Given the description of an element on the screen output the (x, y) to click on. 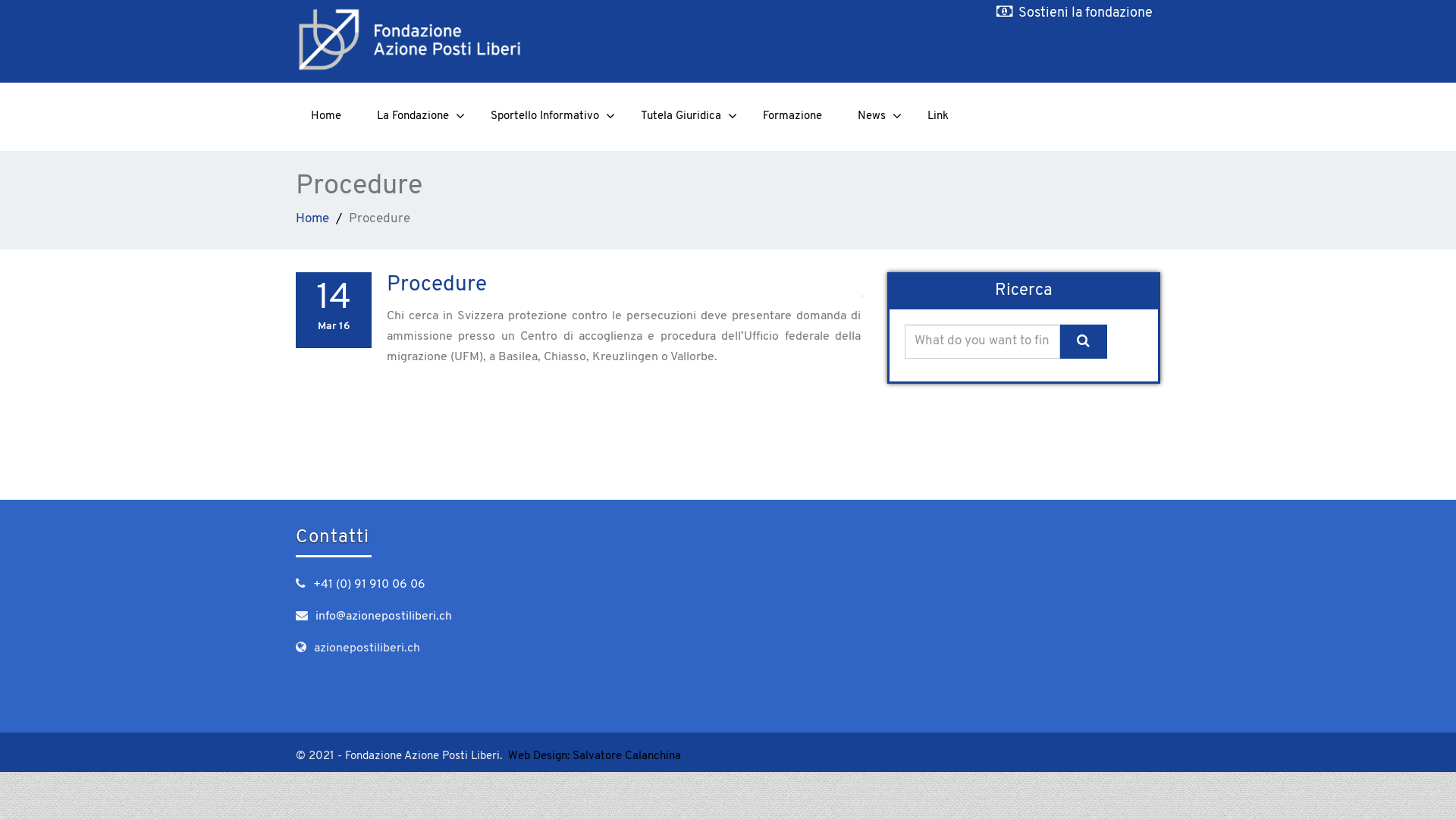
Home Element type: text (312, 218)
Web Design: Salvatore Calanchina Element type: text (594, 756)
Fondazione Azione Posti Liberi Element type: hover (505, 39)
Sportello Informativo  Element type: text (547, 116)
Formazione Element type: text (792, 116)
+41 (0) 91 910 06 06 Element type: text (369, 584)
Link Element type: text (937, 116)
Sostieni la fondazione Element type: text (1085, 13)
La Fondazione  Element type: text (415, 116)
Procedure Element type: text (436, 284)
News  Element type: text (874, 116)
info@azionepostiliberi.ch Element type: text (383, 616)
Home Element type: text (325, 116)
Tutela Giuridica  Element type: text (683, 116)
